Given the description of an element on the screen output the (x, y) to click on. 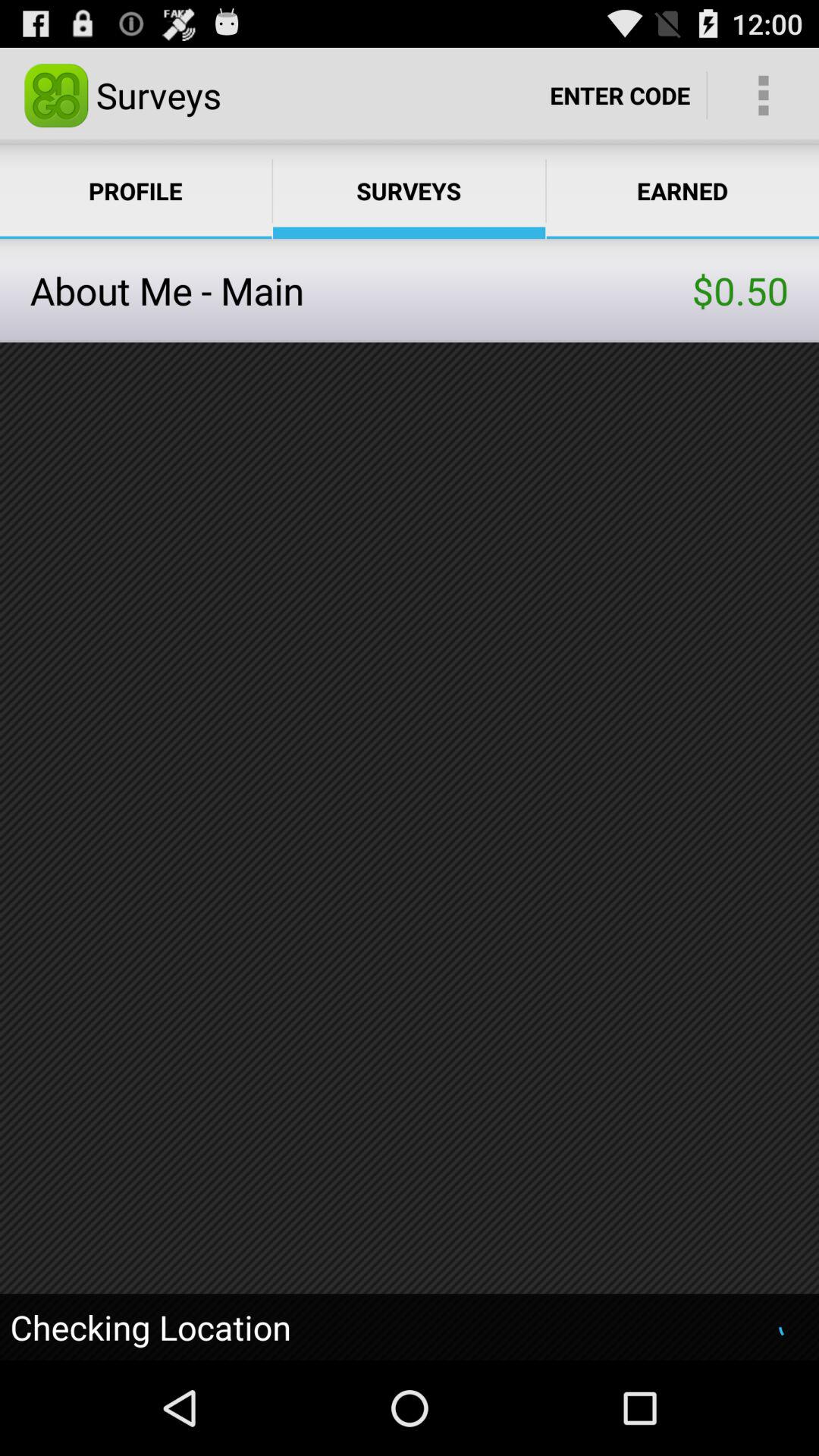
tap icon to the right of the enter code icon (763, 95)
